Given the description of an element on the screen output the (x, y) to click on. 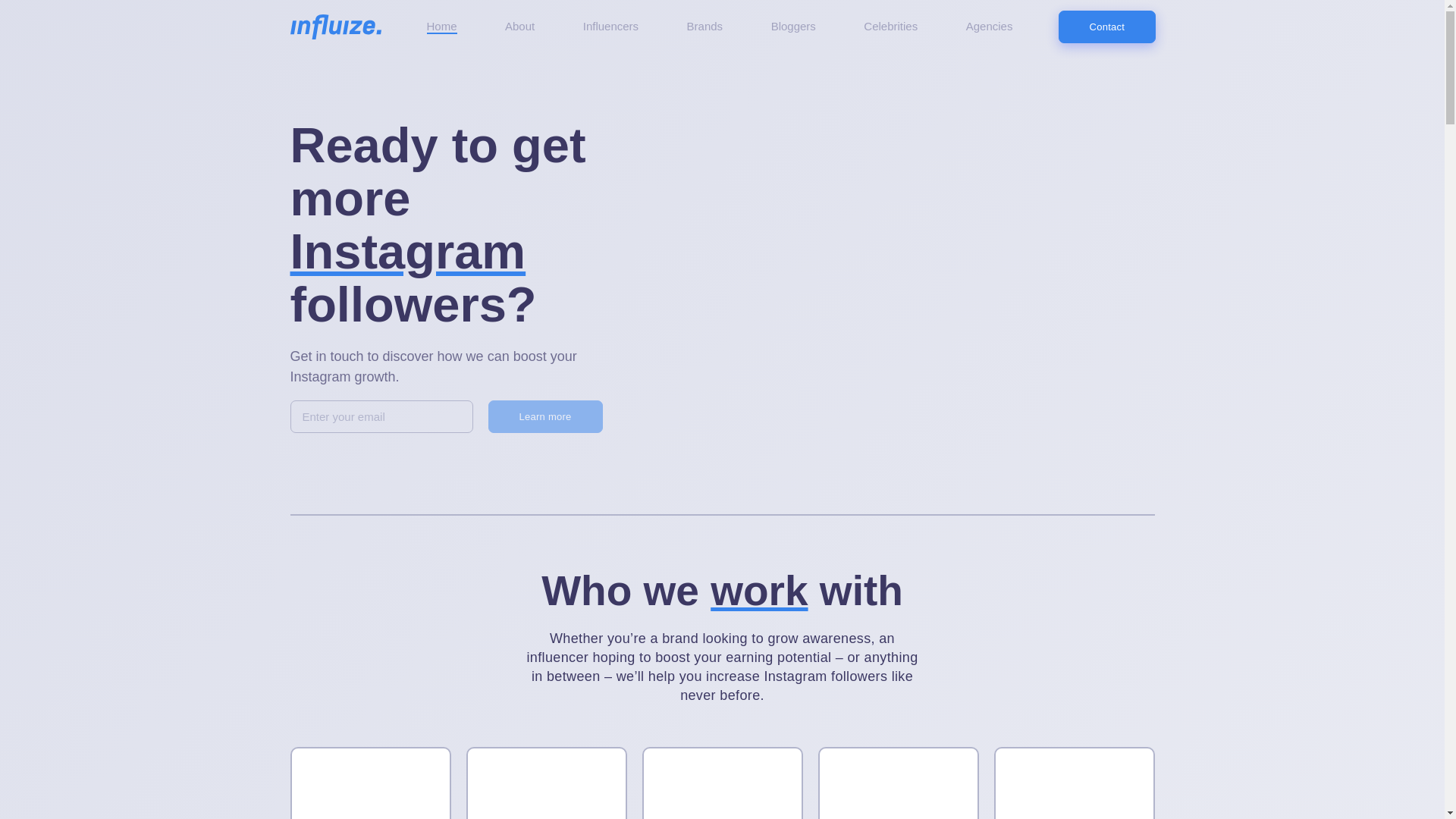
Home (441, 26)
Brands (705, 26)
Bloggers (1073, 782)
Influencers (369, 782)
About (519, 26)
Celebrities (897, 782)
Influencers (611, 26)
Agencies (722, 782)
Celebrities (890, 26)
Contact (1107, 26)
Agencies (989, 26)
Brands (545, 782)
Learn more (544, 416)
Bloggers (793, 26)
Learn more (544, 416)
